Given the description of an element on the screen output the (x, y) to click on. 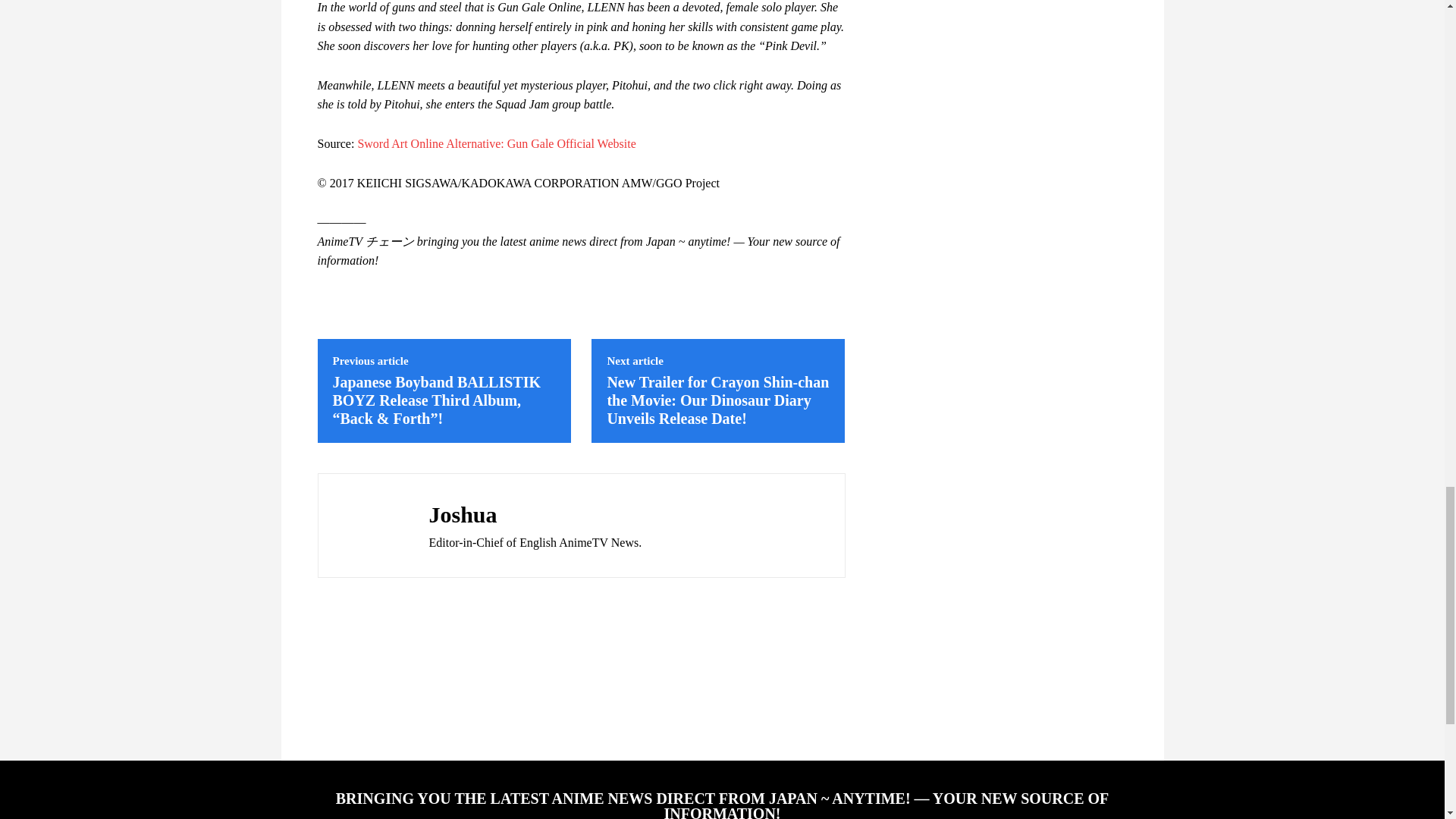
Sword Art Online Alternative: Gun Gale Official Website (495, 143)
Joshua (369, 524)
Joshua (535, 514)
